Given the description of an element on the screen output the (x, y) to click on. 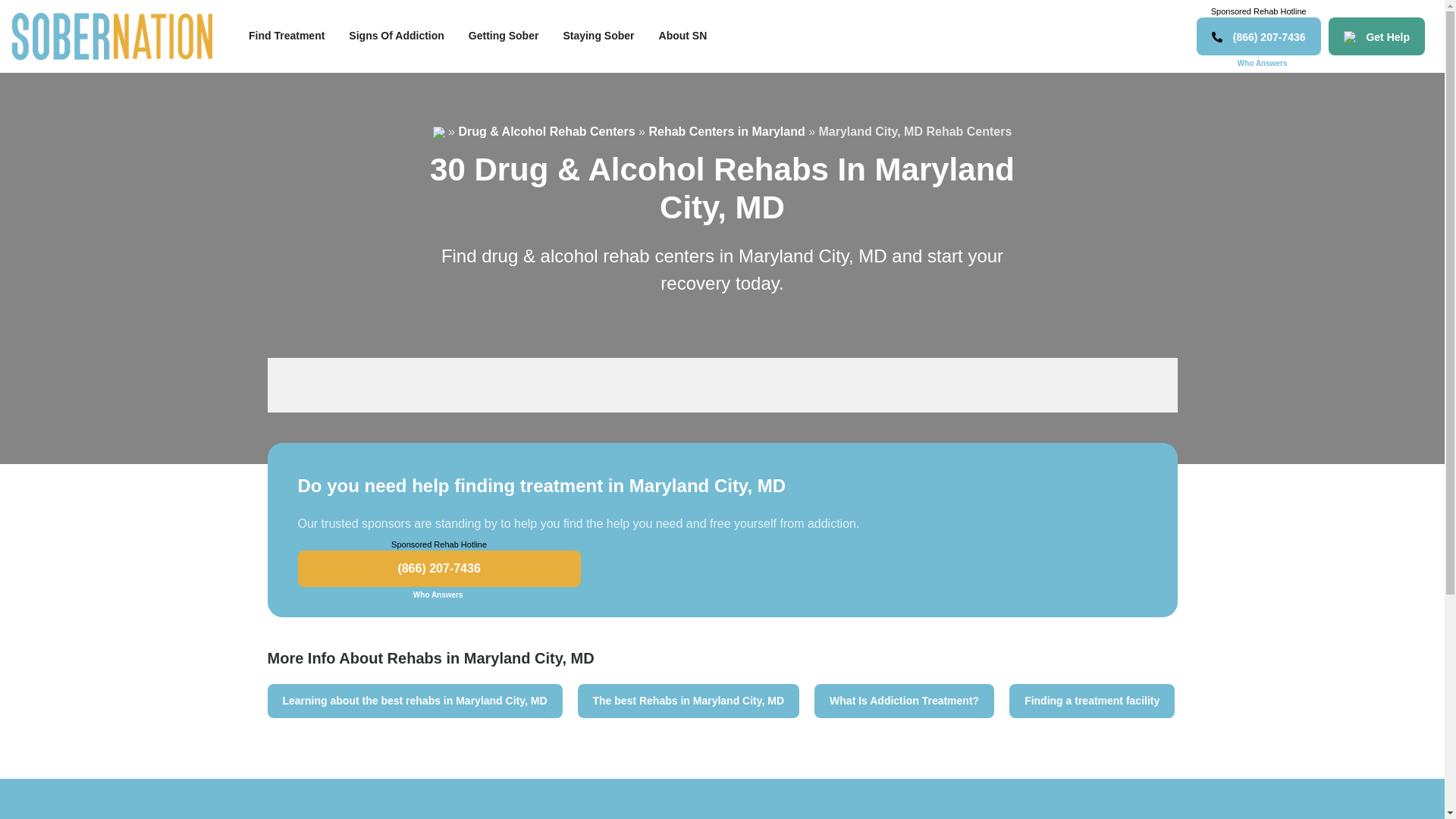
Getting Sober (504, 36)
Signs Of Addiction (395, 36)
Find Treatment (285, 36)
